Given the description of an element on the screen output the (x, y) to click on. 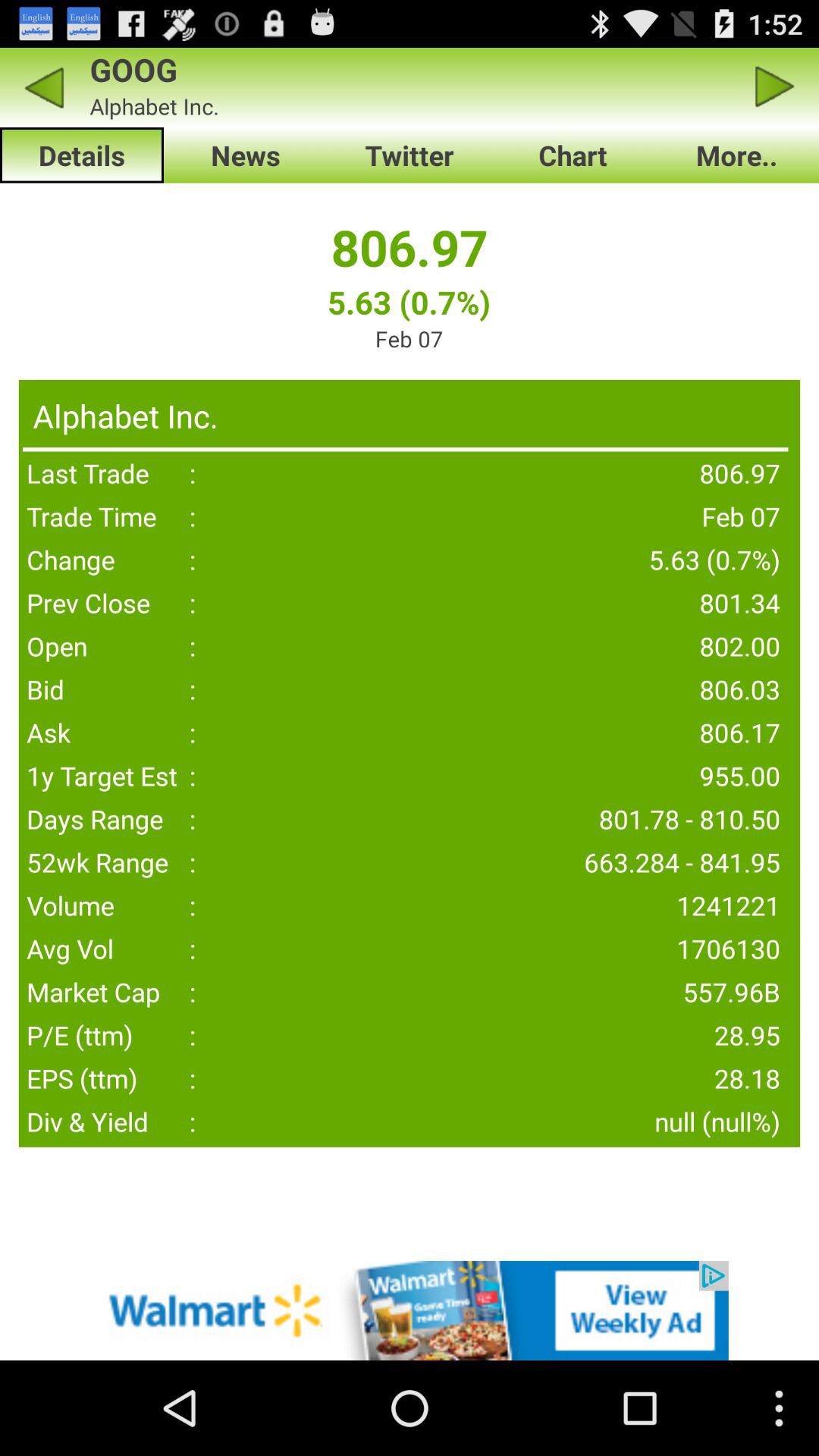
go to previous (775, 87)
